Given the description of an element on the screen output the (x, y) to click on. 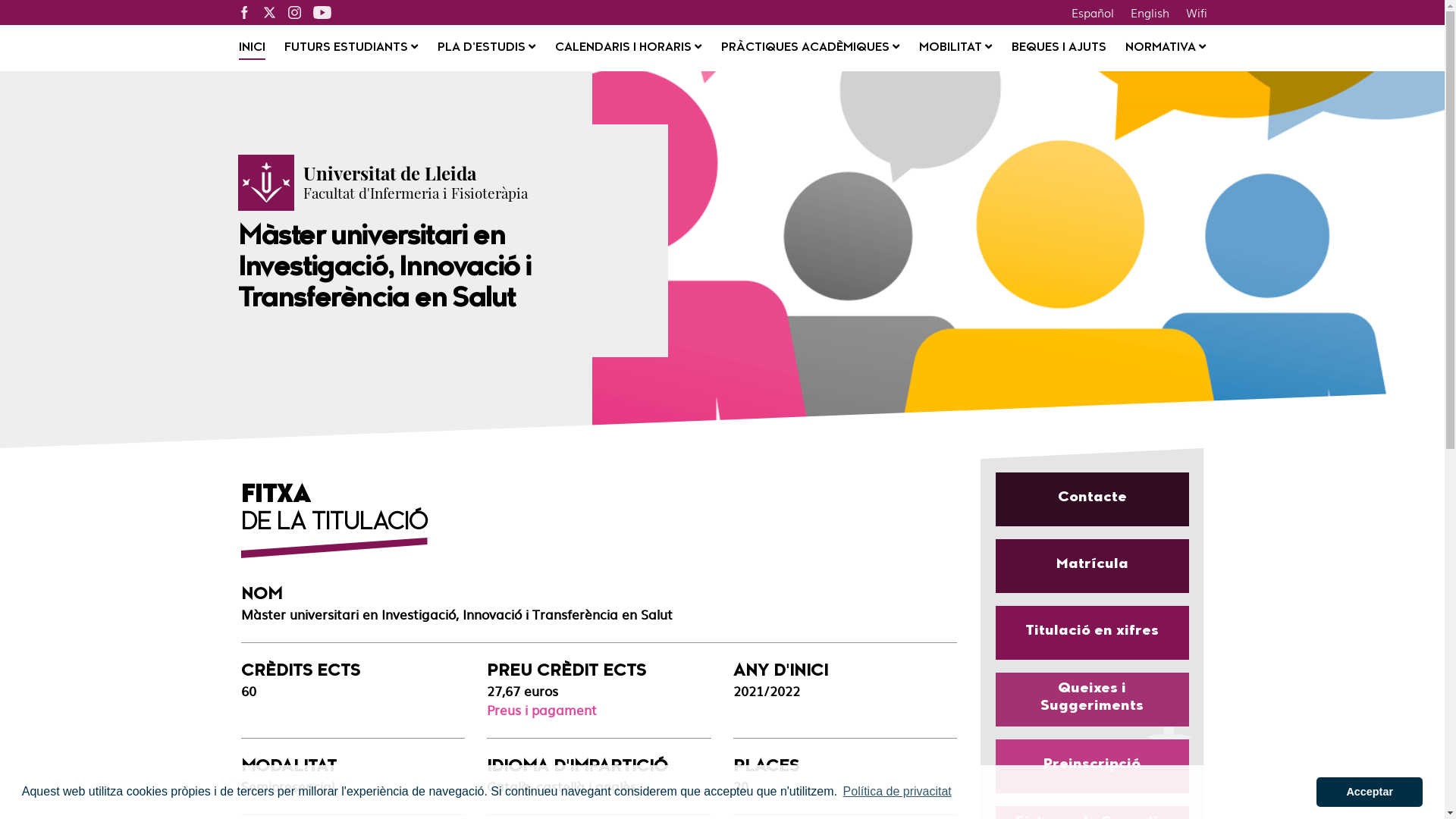
INICI Element type: text (251, 48)
NORMATIVA Element type: text (1165, 48)
Preus i pagament Element type: text (541, 708)
English Element type: text (1149, 12)
Acceptar Element type: text (1369, 791)
FUTURS ESTUDIANTS Element type: text (350, 48)
CALENDARIS I HORARIS Element type: text (628, 48)
Wifi Element type: text (1195, 12)
MOBILITAT Element type: text (955, 48)
BEQUES I AJUTS Element type: text (1058, 48)
